Given the description of an element on the screen output the (x, y) to click on. 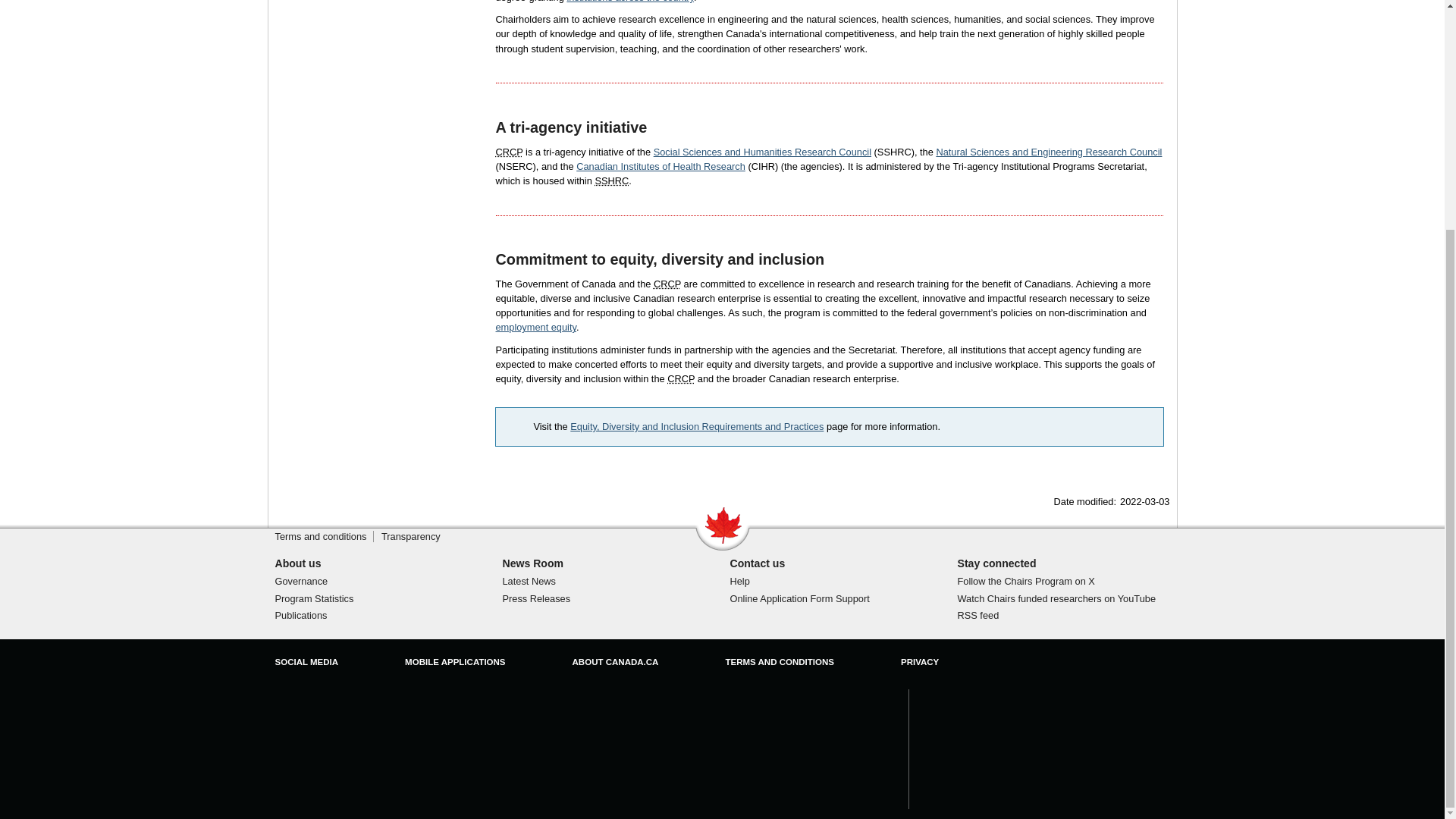
Canada Research Chairs Program (509, 152)
Social Sciences and Humanities Research Council (611, 180)
Canada Research Chairs Program (667, 283)
Canada Research Chairs Program (680, 378)
